Given the description of an element on the screen output the (x, y) to click on. 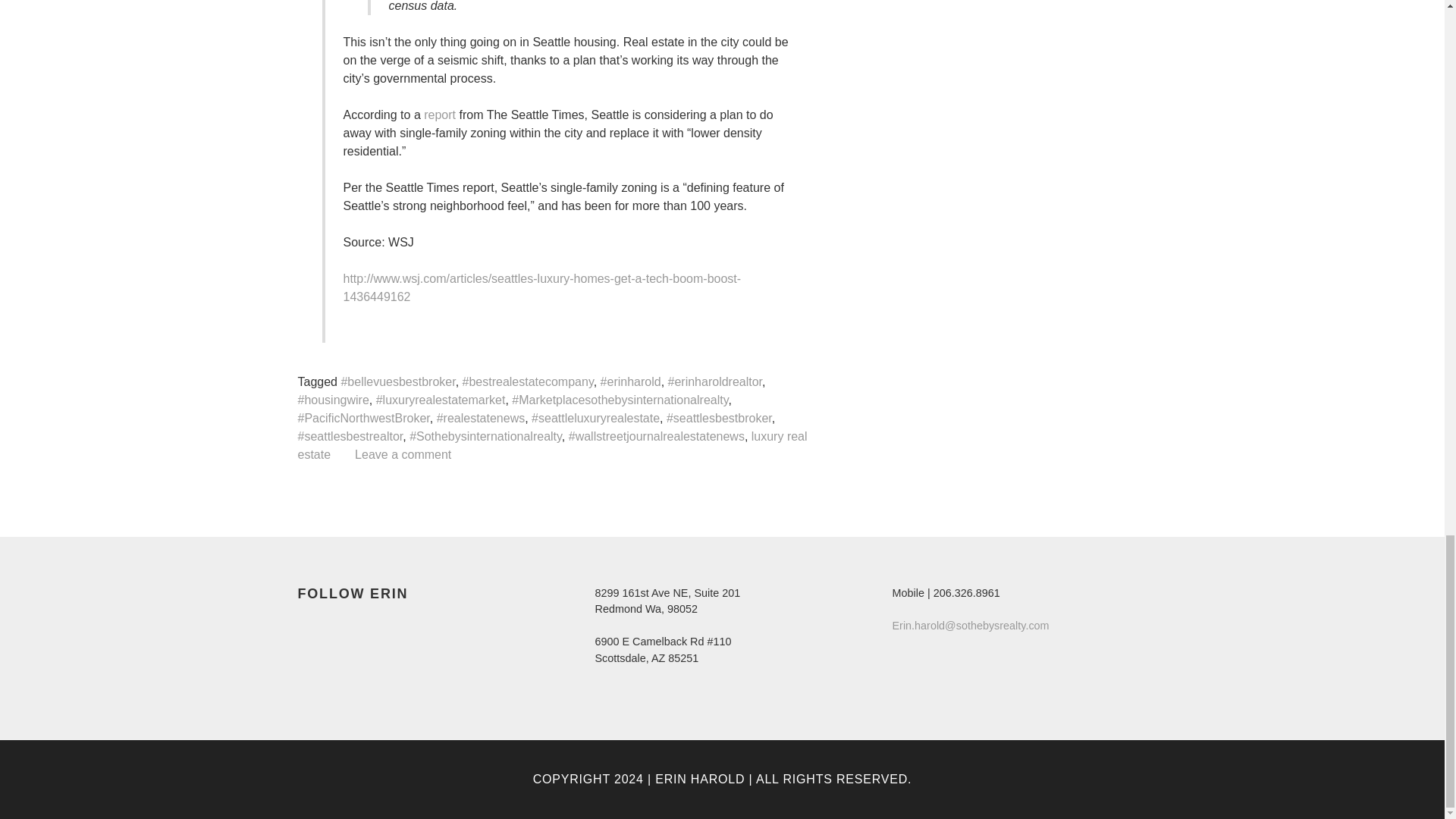
Leave a comment (403, 454)
luxury real estate (551, 445)
LinkedIn (363, 624)
report (439, 114)
Twitter (336, 624)
Facebook (309, 624)
